Given the description of an element on the screen output the (x, y) to click on. 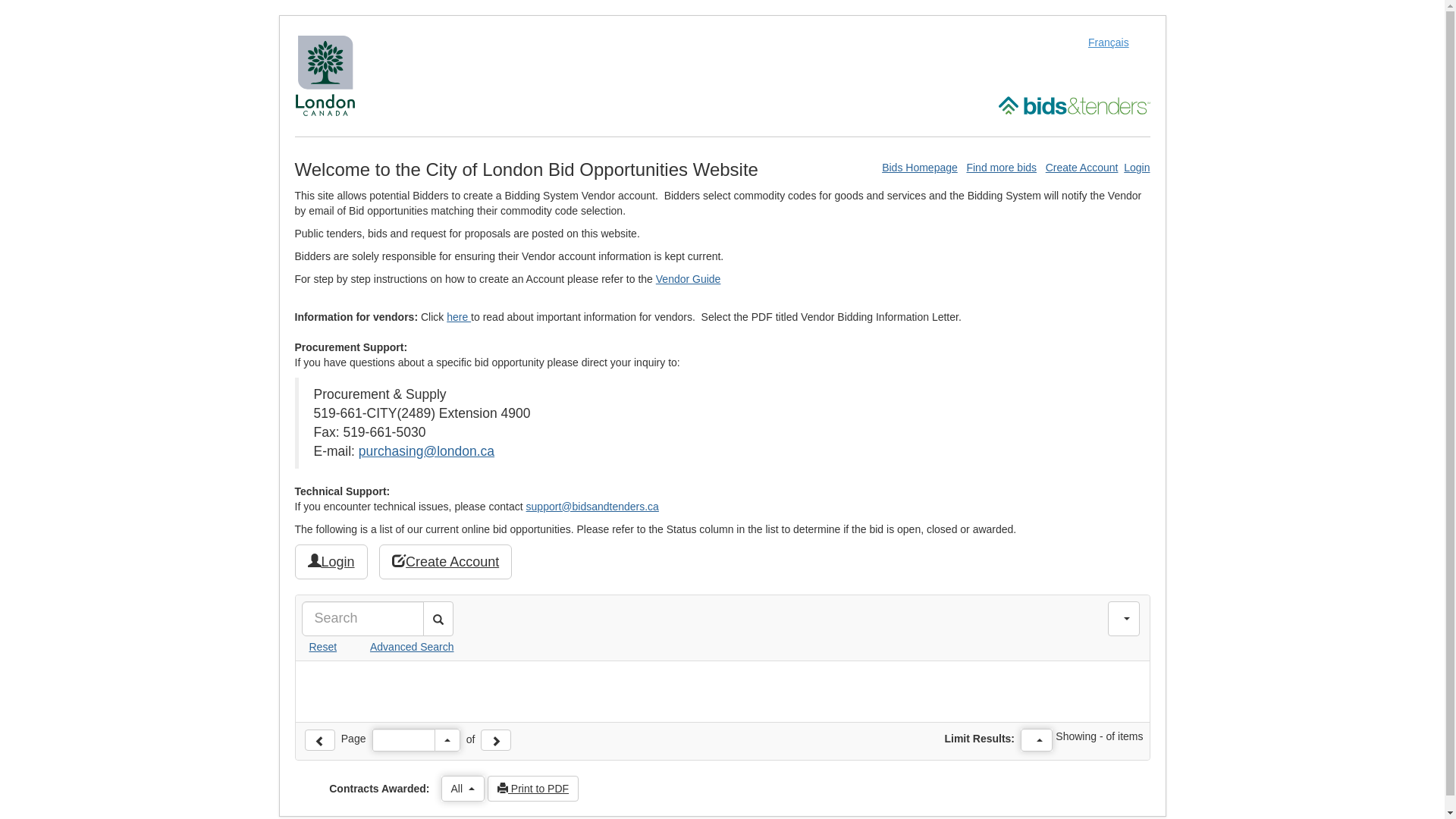
Vendor Guide Element type: text (688, 279)
Login Element type: text (1136, 167)
Bids Homepage Element type: text (919, 167)
Skip to Content (Press Enter) Element type: text (0, 0)
purchasing@london.ca Element type: text (426, 450)
Toggle Drop Down Element type: text (447, 739)
Create Account Element type: text (1081, 167)
Open Bids and Tenders site in a new window Element type: hover (1073, 104)
Find more bids Element type: text (1001, 167)
Open City of London site in a new window Element type: hover (324, 75)
All Element type: text (463, 788)
Toggle Filters Element type: text (1123, 618)
Previous Page Element type: text (319, 739)
Reset Element type: text (319, 646)
 Print to PDF Element type: text (532, 788)
Login Element type: text (330, 561)
here Element type: text (458, 316)
Search Element type: text (438, 618)
Next Page Element type: text (495, 739)
Toggle Drop Down Element type: text (1036, 739)
Create Account Element type: text (445, 561)
support@bidsandtenders.ca Element type: text (592, 506)
Advanced Search Element type: text (396, 646)
